Given the description of an element on the screen output the (x, y) to click on. 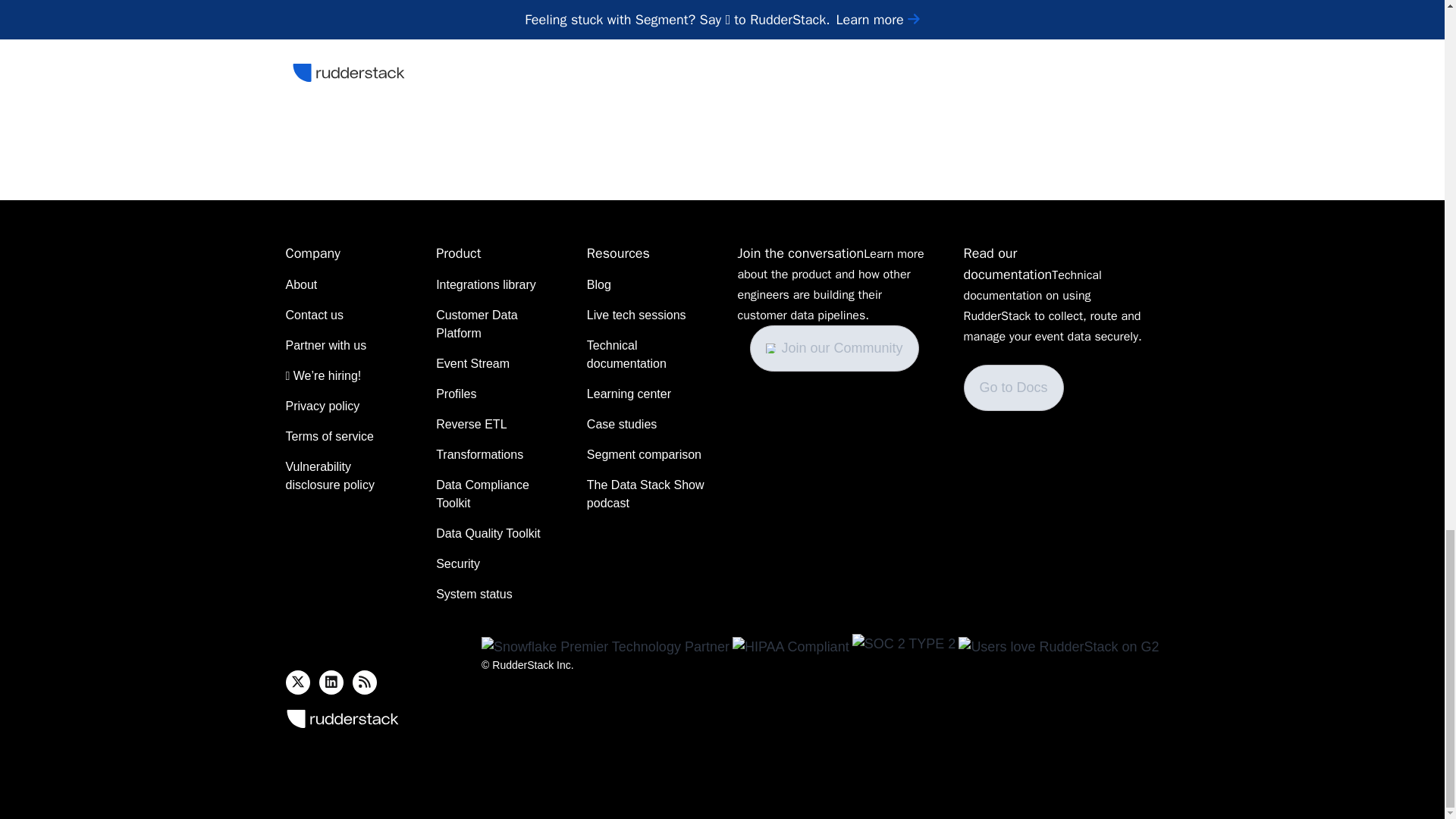
Terms of service (328, 436)
Partner with us (325, 345)
About (301, 285)
Contact us (313, 315)
Privacy policy (322, 406)
